Given the description of an element on the screen output the (x, y) to click on. 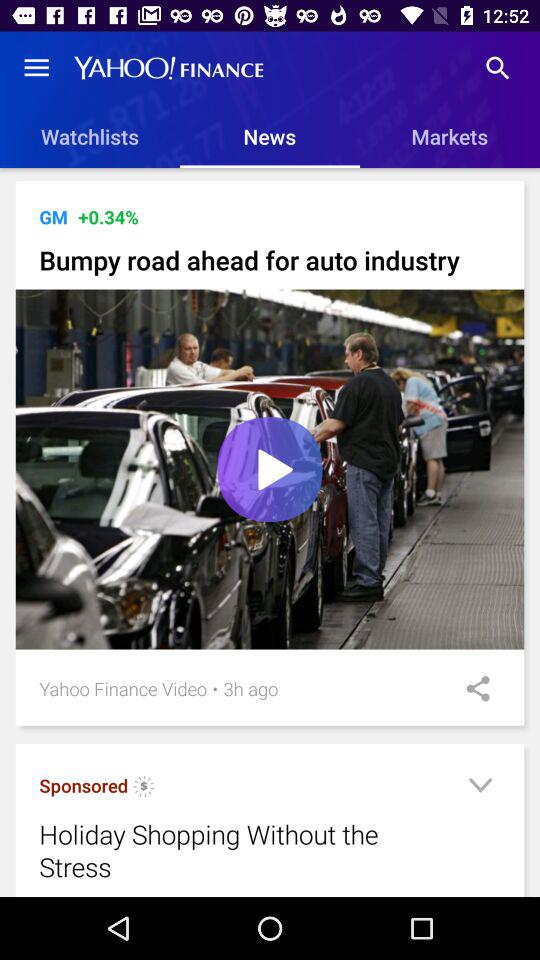
turn on the icon to the left of the 3h ago (215, 688)
